Given the description of an element on the screen output the (x, y) to click on. 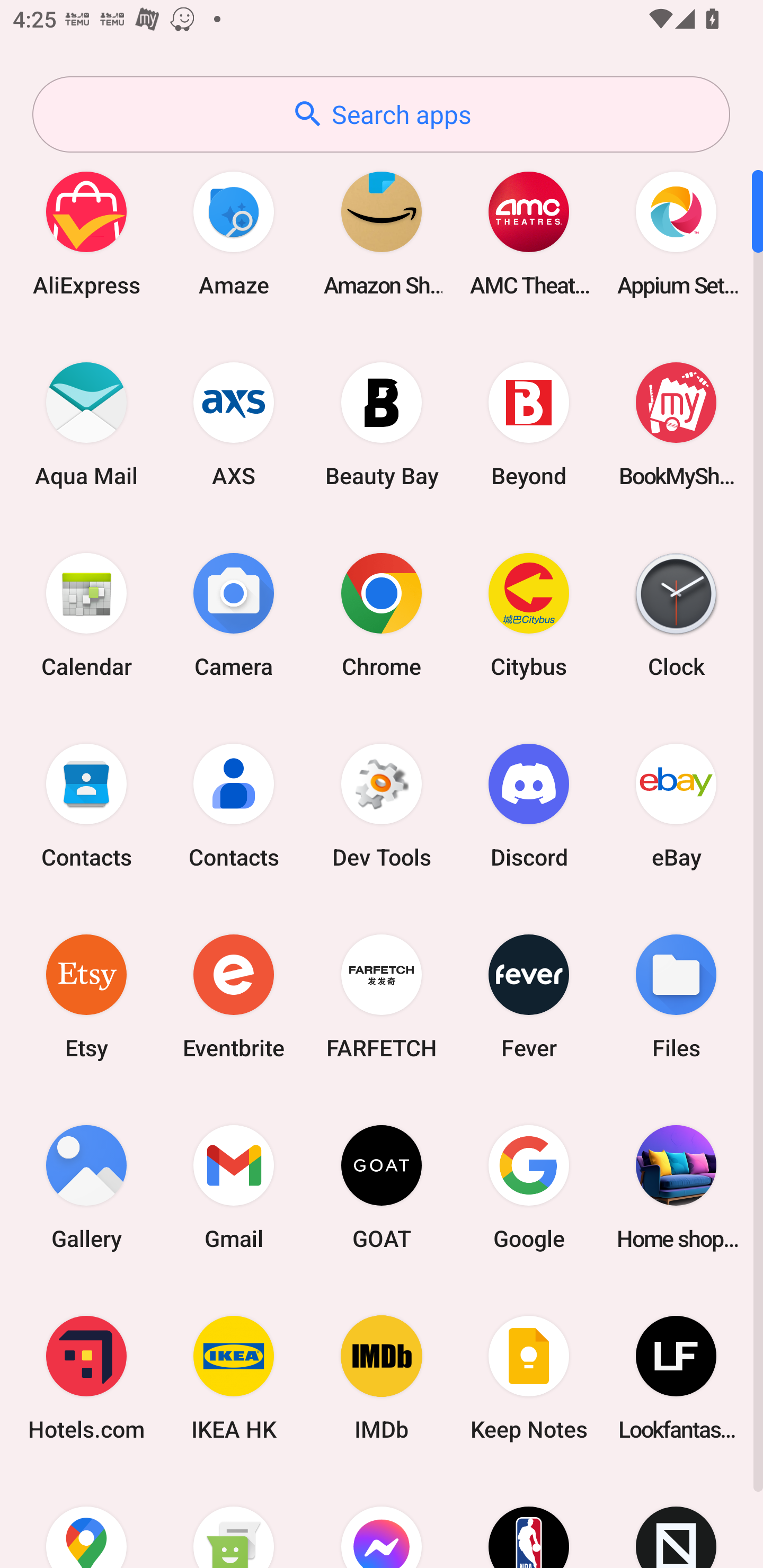
  Search apps (381, 114)
AliExpress (86, 233)
Amaze (233, 233)
Amazon Shopping (381, 233)
AMC Theatres (528, 233)
Appium Settings (676, 233)
Aqua Mail (86, 424)
AXS (233, 424)
Beauty Bay (381, 424)
Beyond (528, 424)
BookMyShow (676, 424)
Calendar (86, 614)
Camera (233, 614)
Chrome (381, 614)
Citybus (528, 614)
Clock (676, 614)
Contacts (86, 805)
Contacts (233, 805)
Dev Tools (381, 805)
Discord (528, 805)
eBay (676, 805)
Etsy (86, 996)
Eventbrite (233, 996)
FARFETCH (381, 996)
Fever (528, 996)
Files (676, 996)
Gallery (86, 1186)
Gmail (233, 1186)
GOAT (381, 1186)
Google (528, 1186)
Home shopping (676, 1186)
Hotels.com (86, 1377)
IKEA HK (233, 1377)
IMDb (381, 1377)
Keep Notes (528, 1377)
Lookfantastic (676, 1377)
Maps (86, 1520)
Messaging (233, 1520)
Messenger (381, 1520)
NBA (528, 1520)
Novelship (676, 1520)
